Given the description of an element on the screen output the (x, y) to click on. 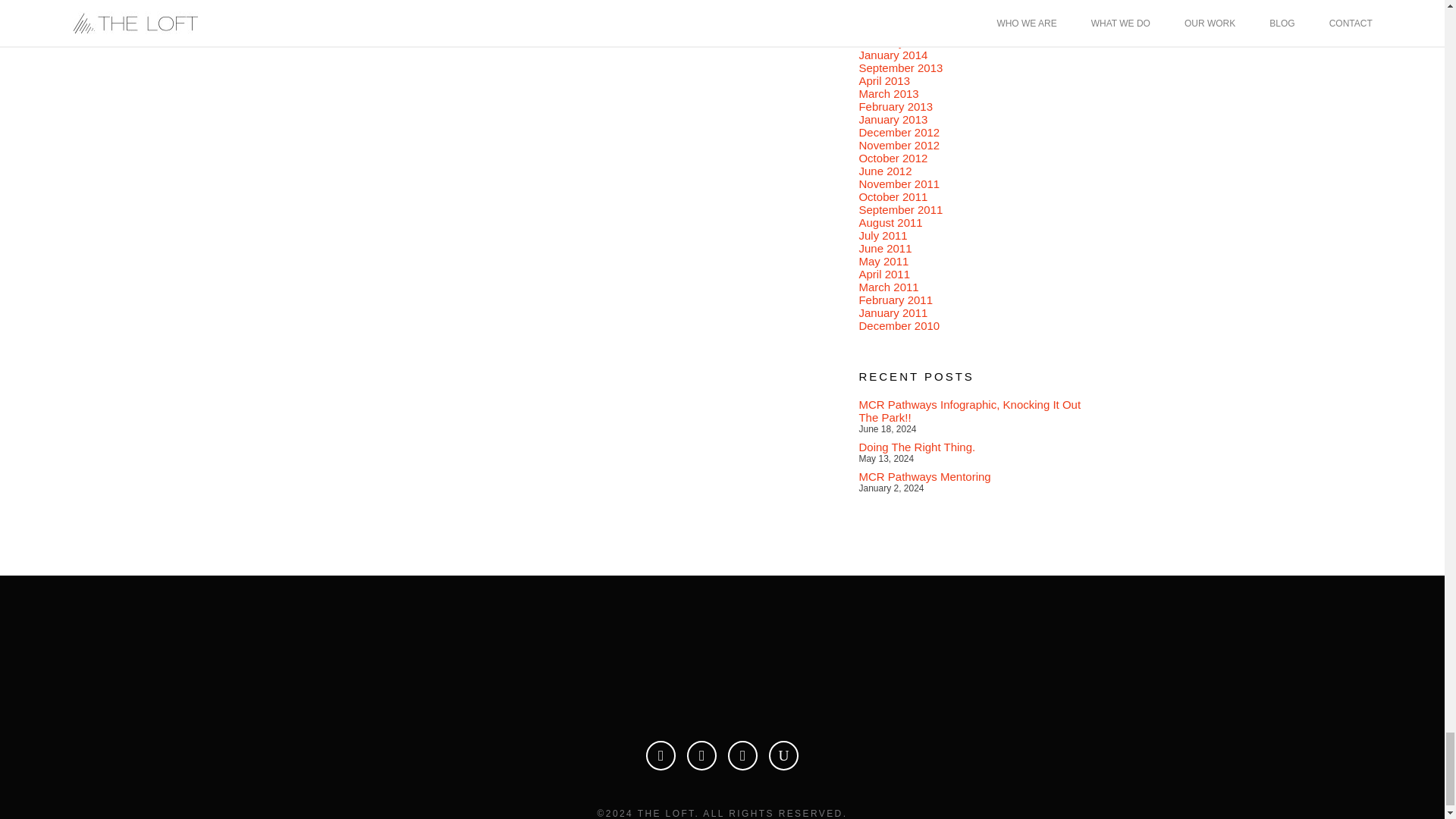
YouTube (782, 755)
Instagram (742, 755)
Twitter (701, 755)
Facebook (660, 755)
